Given the description of an element on the screen output the (x, y) to click on. 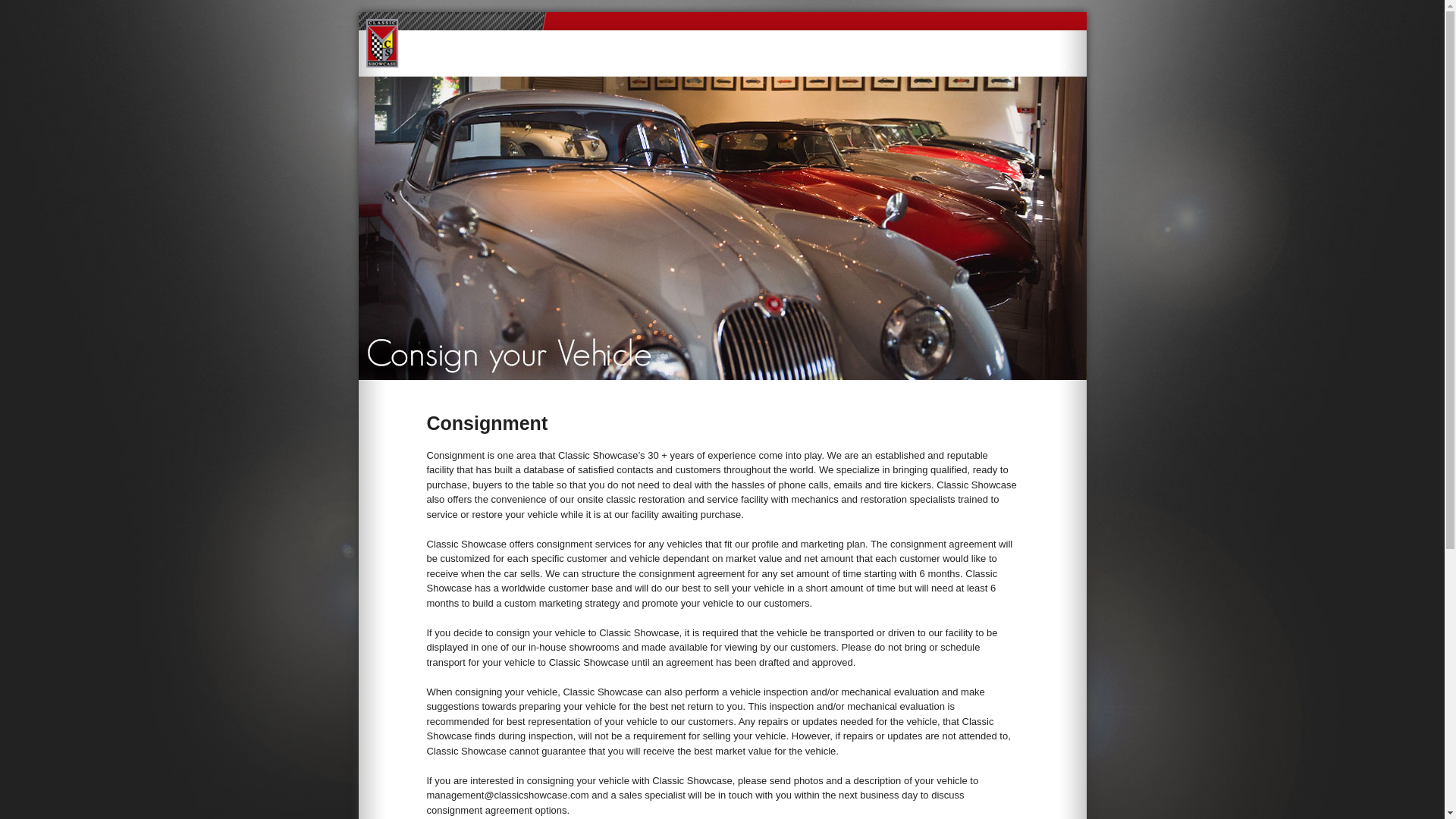
SEARCH (999, 65)
NEWSLETTER (943, 65)
BUY-SELL (822, 65)
CONTACT (1048, 65)
SERVICES (762, 65)
INVENTORY (581, 65)
RESTORATION (692, 65)
INFO (633, 65)
